Given the description of an element on the screen output the (x, y) to click on. 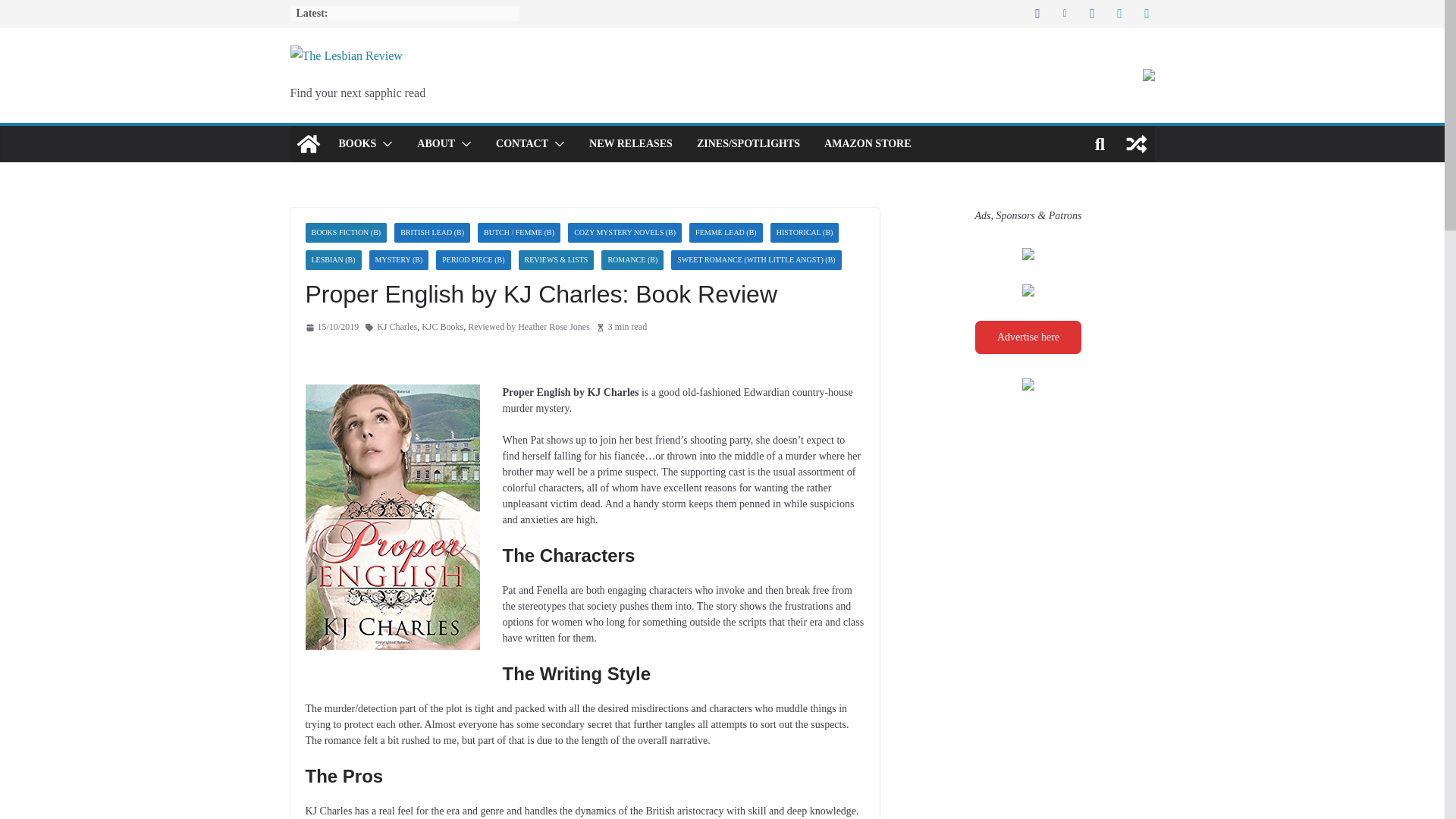
ABOUT (435, 143)
12:00 am (331, 327)
BOOKS (356, 143)
The Lesbian Review (307, 144)
View a random post (1136, 144)
